Given the description of an element on the screen output the (x, y) to click on. 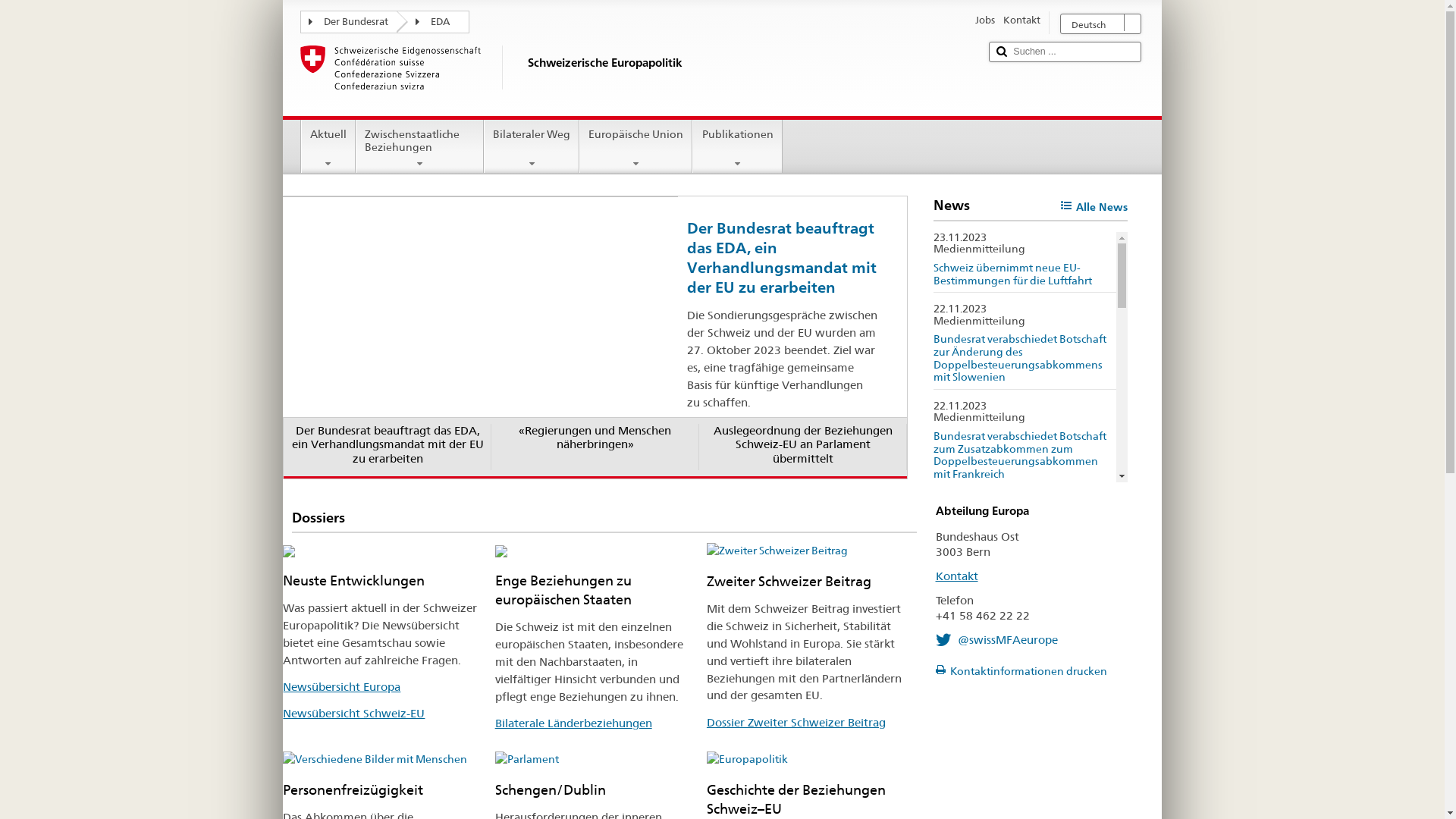
Kontaktinformationen drucken Element type: text (1021, 671)
Publikationen Element type: text (737, 144)
Dossier Zweiter Schweizer Beitrag Element type: text (795, 722)
Bilateraler Weg Element type: text (531, 144)
Alle News Element type: text (1093, 206)
Deutsch Element type: text (1100, 23)
Der Bundesrat Element type: text (354, 20)
Schweizerische Europapolitik Element type: text (638, 77)
Aktuell Element type: text (327, 144)
Jobs Element type: text (984, 20)
@swissMFAeurope Element type: text (996, 639)
EDA Element type: text (437, 20)
Kontakt Element type: text (956, 575)
Kontakt Element type: text (1021, 20)
Submit Element type: text (1001, 51)
Zwischenstaatliche Beziehungen Element type: text (419, 144)
